Given the description of an element on the screen output the (x, y) to click on. 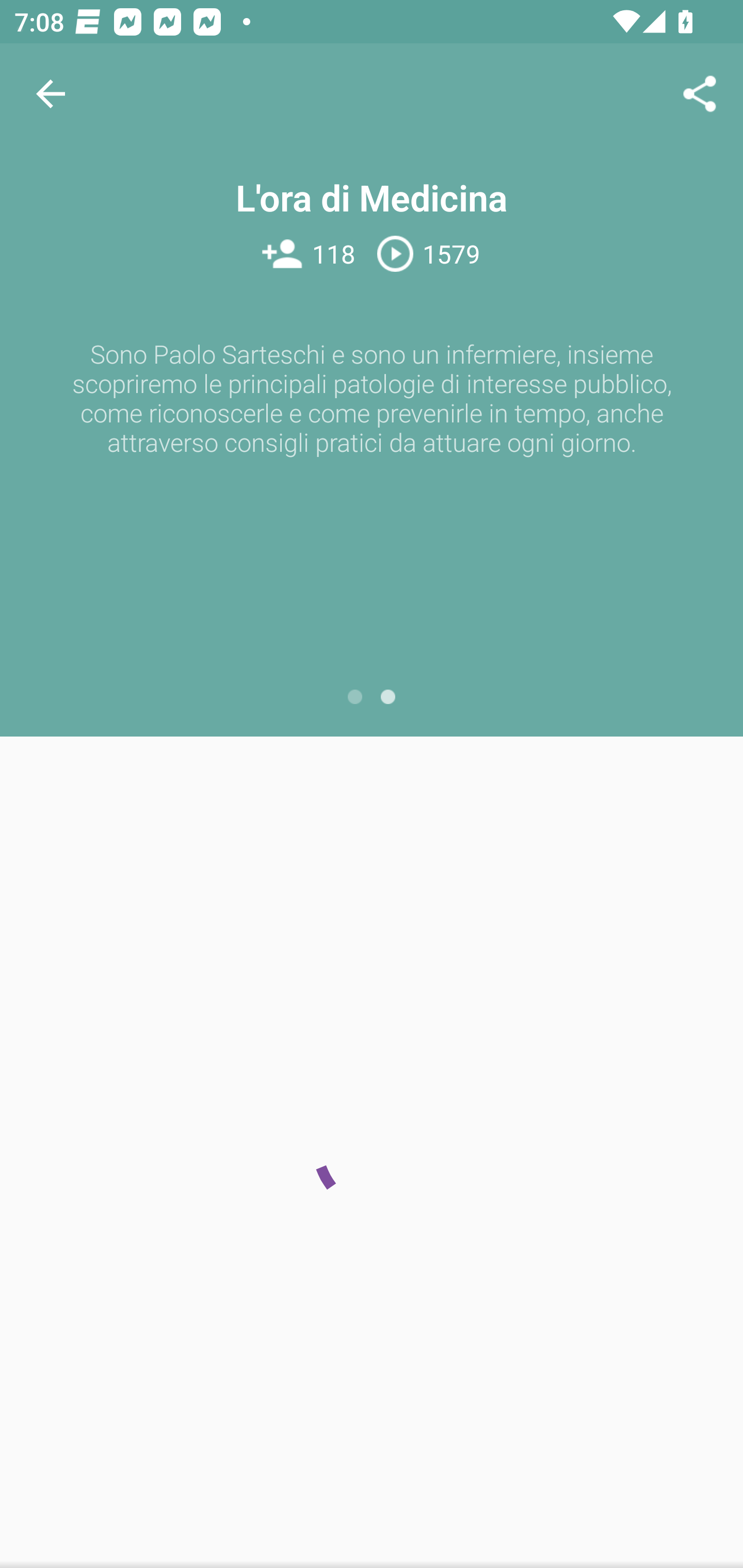
Navigate up (50, 93)
Share... (699, 93)
